Given the description of an element on the screen output the (x, y) to click on. 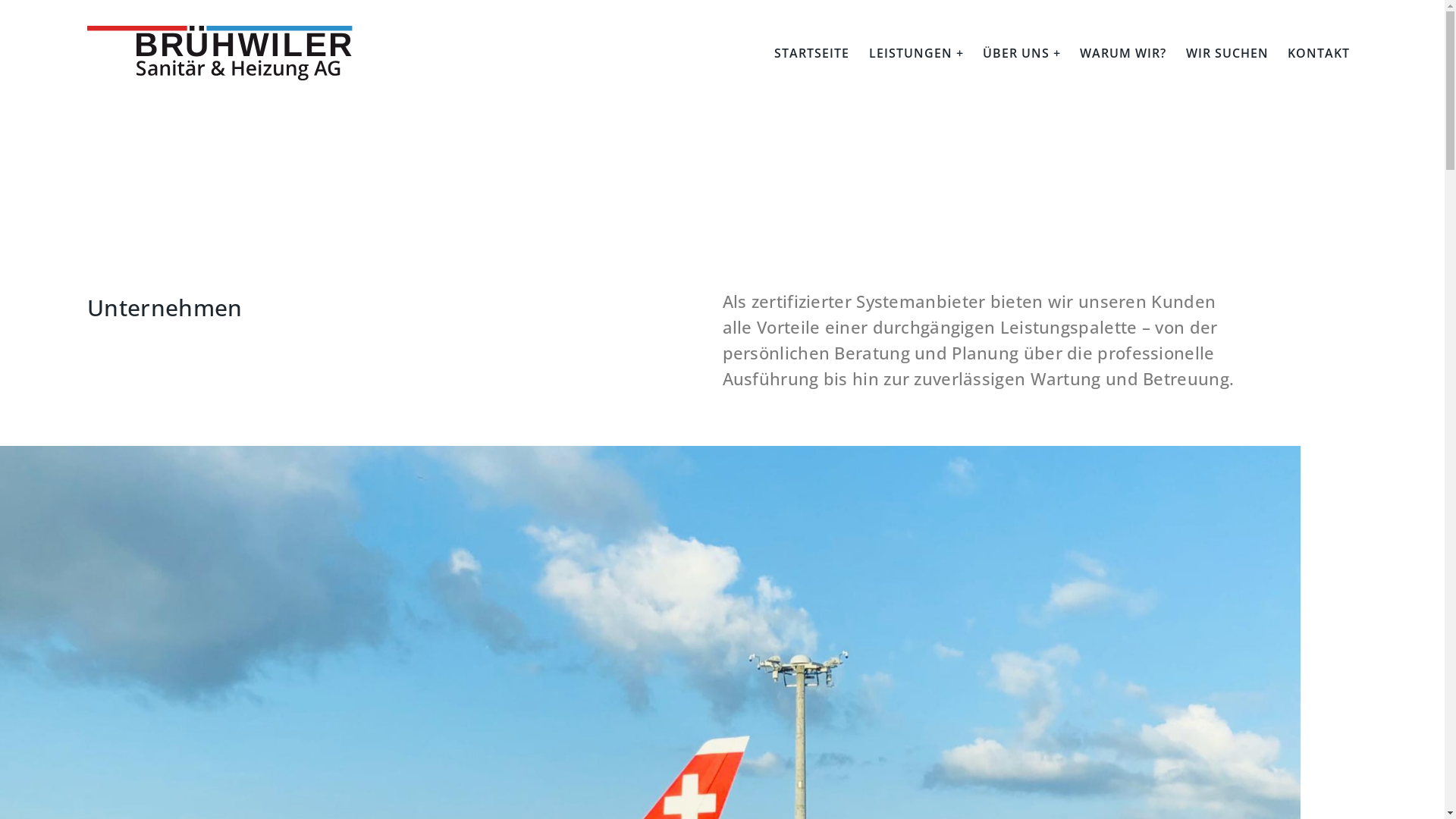
+41 44 361 32 02 Element type: text (1118, 376)
info@bruehwiler-sanitaer.ch Element type: text (1153, 444)
KONTAKT Element type: text (1318, 53)
WIR SUCHEN Element type: text (1227, 53)
STARTSEITE Element type: text (811, 53)
WARUM WIR? Element type: text (1122, 53)
LEISTUNGEN Element type: text (916, 53)
Schlieren Element type: text (407, 566)
created by Element type: text (1321, 786)
